Given the description of an element on the screen output the (x, y) to click on. 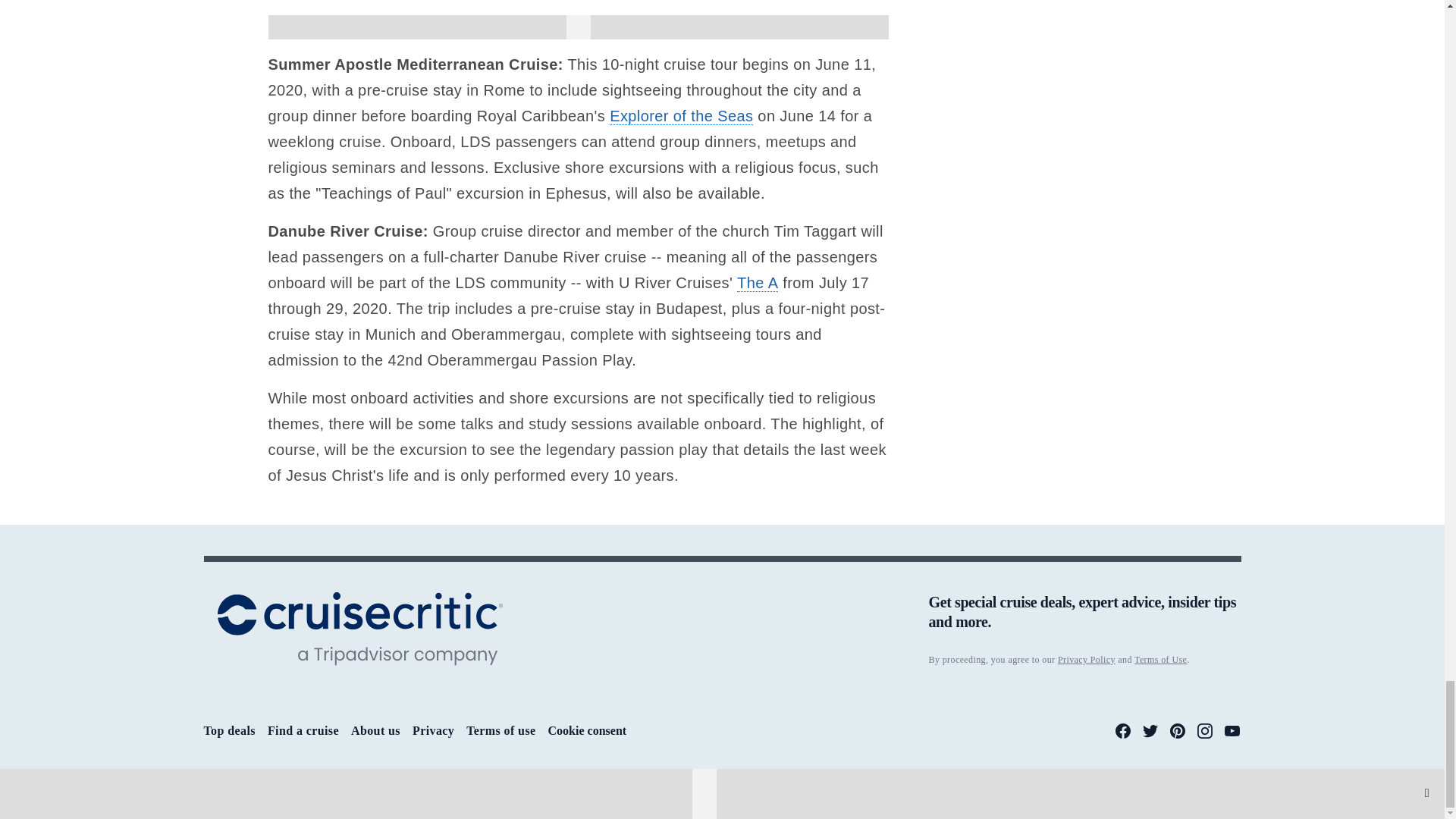
Privacy Policy (1086, 659)
Terms of Use (1160, 659)
Top deals (228, 730)
Terms of use (500, 730)
About us (375, 730)
Find a cruise (303, 730)
Privacy (433, 730)
Explorer of the Seas (681, 116)
The A (756, 282)
Cookie consent (587, 730)
